Given the description of an element on the screen output the (x, y) to click on. 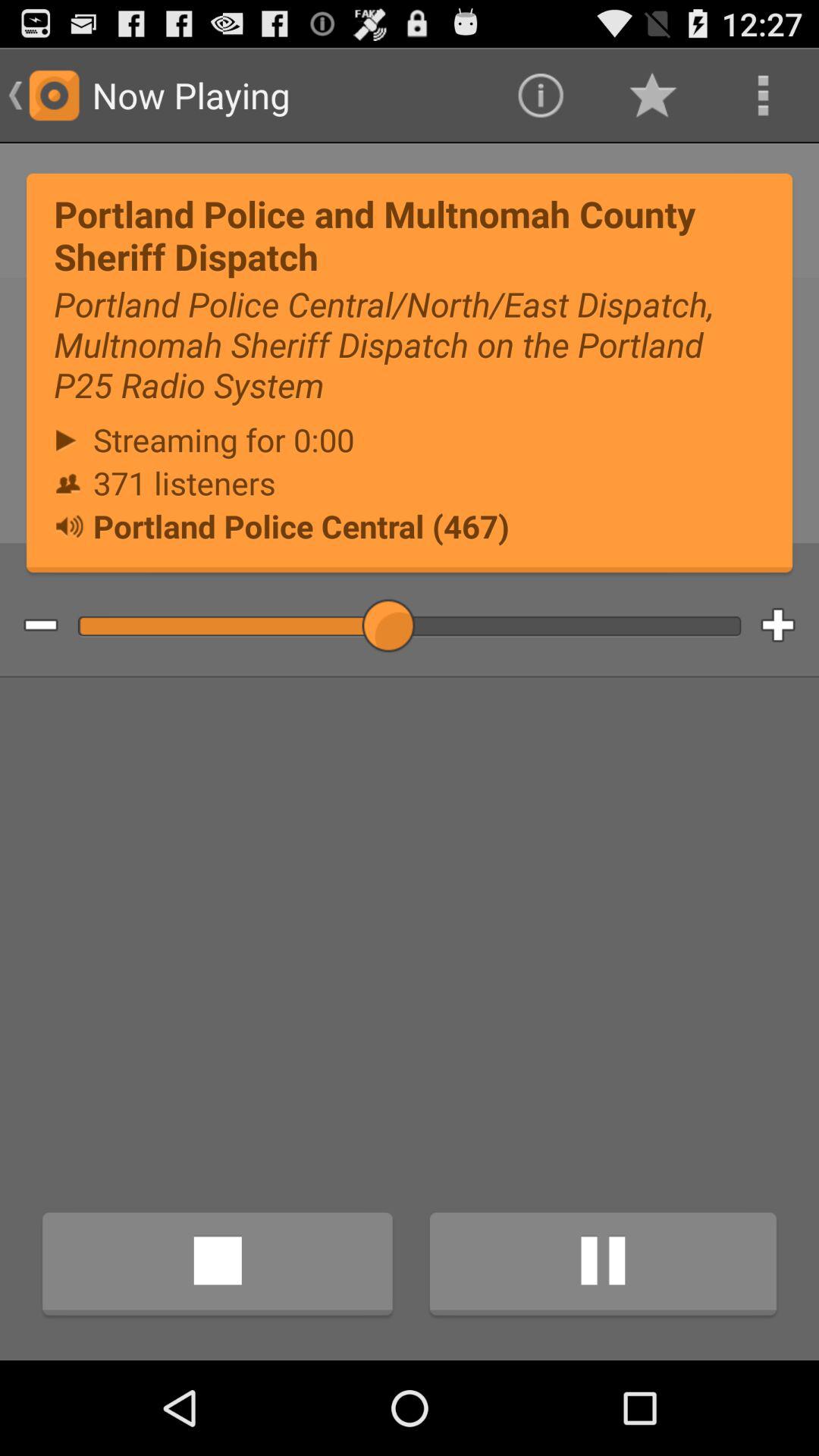
tap app above the portland police and icon (651, 95)
